Given the description of an element on the screen output the (x, y) to click on. 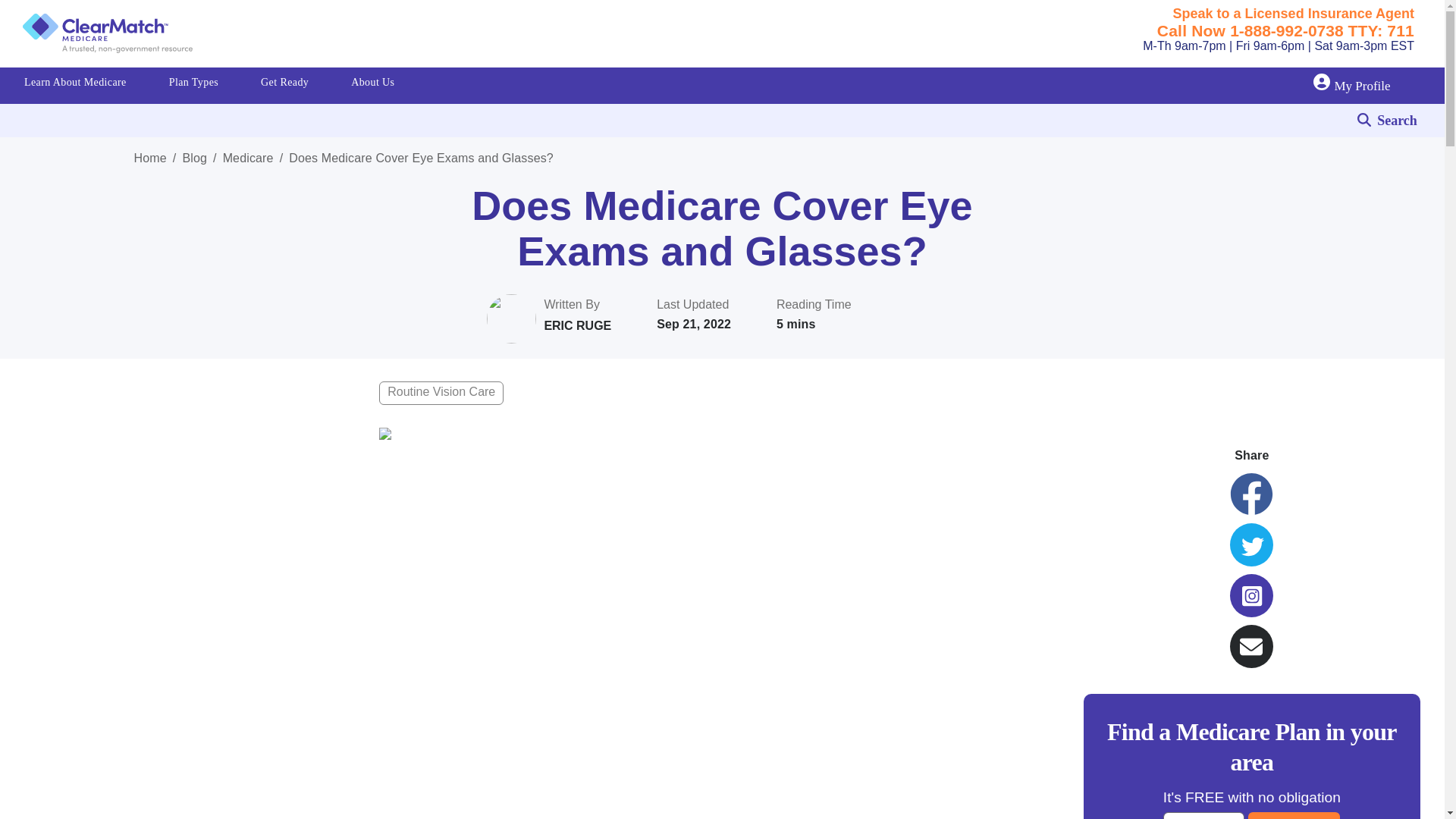
About Us (372, 85)
Get Ready (284, 85)
1-888-992-0738 (1289, 30)
Blog (194, 157)
Share on instagram (1251, 595)
Search (1398, 120)
Share on twitter (1251, 544)
Share on mail (1251, 646)
Learn About Medicare (74, 85)
Share on facebook (1251, 493)
